Given the description of an element on the screen output the (x, y) to click on. 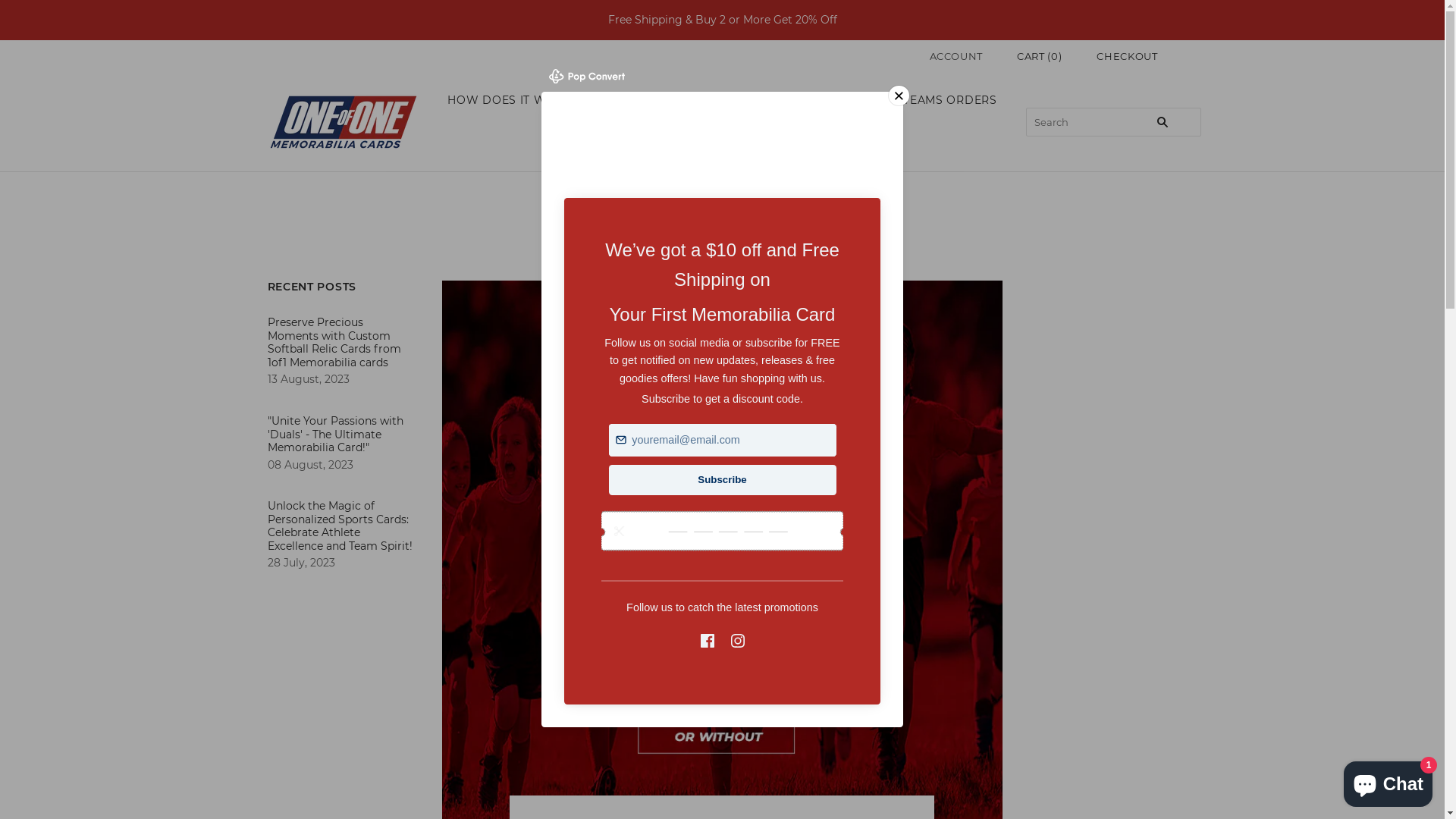
News Element type: text (707, 240)
CHOOSE YOUR DESIGN Element type: text (686, 100)
HOW DOES IT WORK? Element type: text (512, 100)
TEAMS ORDERS Element type: text (949, 100)
Home Element type: text (666, 240)
ACCOUNT Element type: text (956, 56)
CONTACT US Element type: text (684, 144)
Shopify online store chat Element type: hover (1388, 780)
08 August, 2023 Element type: text (309, 464)
CART (0) Element type: text (1038, 56)
28 July, 2023 Element type: text (300, 562)
CHECKOUT Element type: text (1126, 56)
NEWS Element type: text (780, 144)
OUR STORY Element type: text (829, 100)
13 August, 2023 Element type: text (307, 378)
Free Shipping & Buy 2 or More Get 20% Off Element type: text (722, 20)
